Given the description of an element on the screen output the (x, y) to click on. 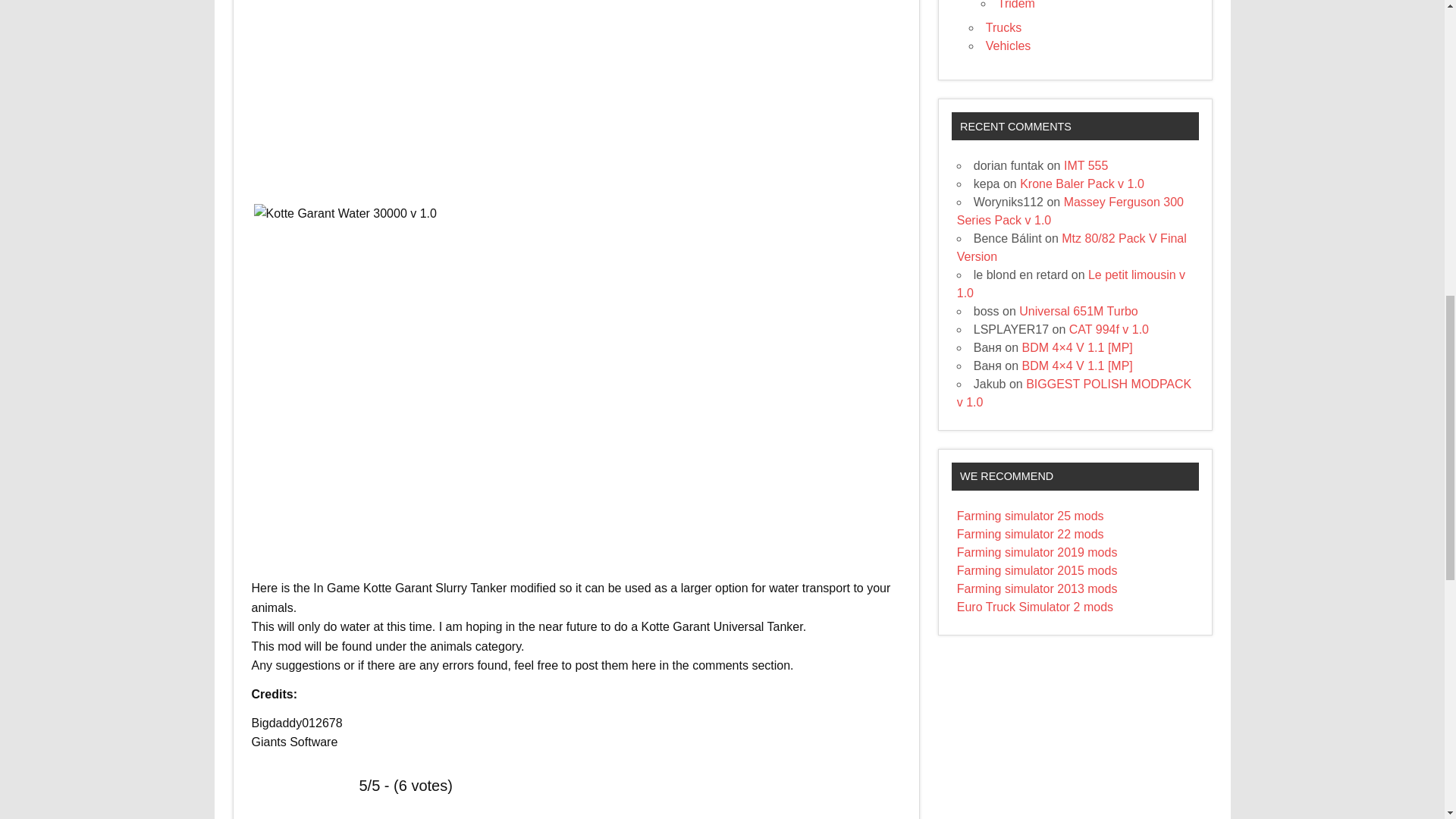
Farming simulator 2015 mods (1037, 570)
Euro Truck Simulator 2 mods (1034, 606)
Farming simulator 25 mods (1029, 515)
Farming simulator 2013 mods (1037, 588)
Farming simulator 22 mods (1029, 533)
Farming simulator 2019 mods (1037, 552)
